Given the description of an element on the screen output the (x, y) to click on. 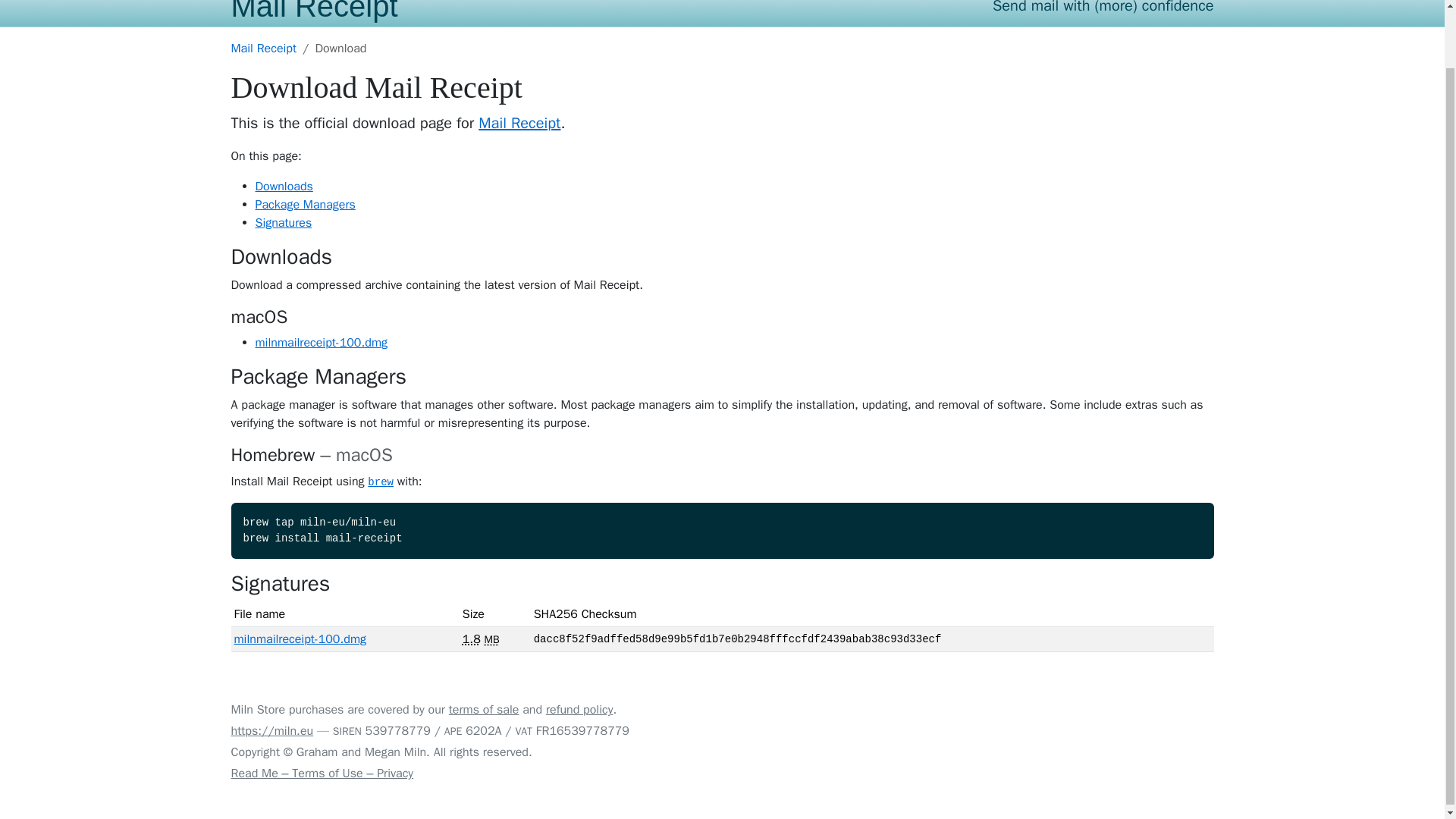
refund policy (579, 709)
Mail Receipt (263, 48)
Signatures (282, 222)
Downloads (283, 186)
terms of sale (483, 709)
Package Managers (304, 204)
MegaBytes (491, 639)
1861119 bytes (471, 639)
milnmailreceipt-100.dmg (320, 342)
brew (380, 481)
